Given the description of an element on the screen output the (x, y) to click on. 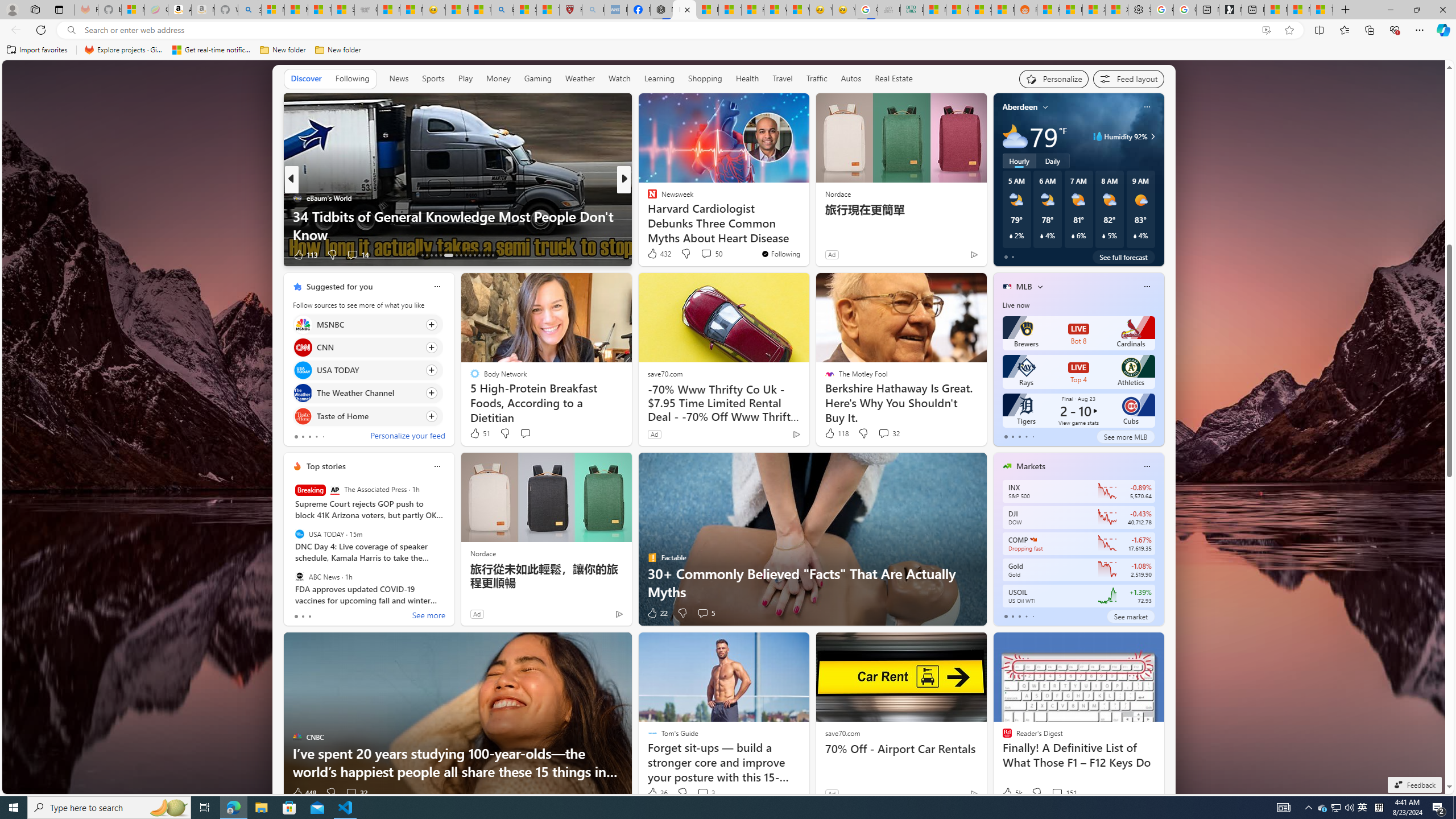
The Motley Fool (647, 197)
Traffic (816, 79)
51 Like (479, 433)
432 Like (658, 253)
Real Estate (893, 78)
You're following Newsweek (780, 253)
Learning (658, 78)
Travel (782, 78)
Fitness - MSN (752, 9)
AutomationID: tab-73 (460, 255)
